Given the description of an element on the screen output the (x, y) to click on. 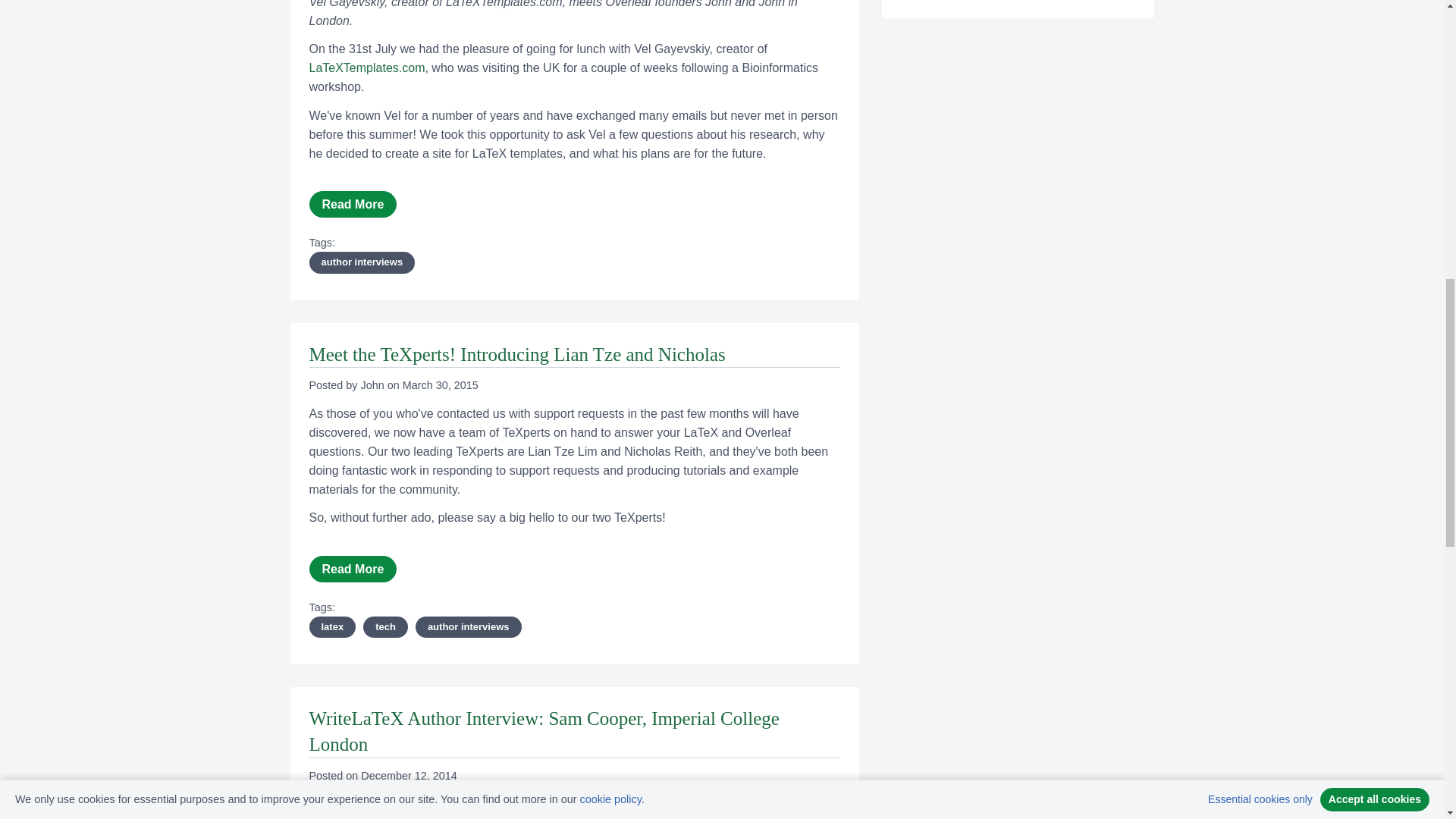
Meet the TeXperts! Introducing Lian Tze and Nicholas (516, 353)
Read More (352, 203)
LaTeXTemplates.com (366, 67)
Read More (352, 569)
author interviews (361, 261)
tech (384, 627)
author interviews (467, 627)
latex (332, 627)
